Given the description of an element on the screen output the (x, y) to click on. 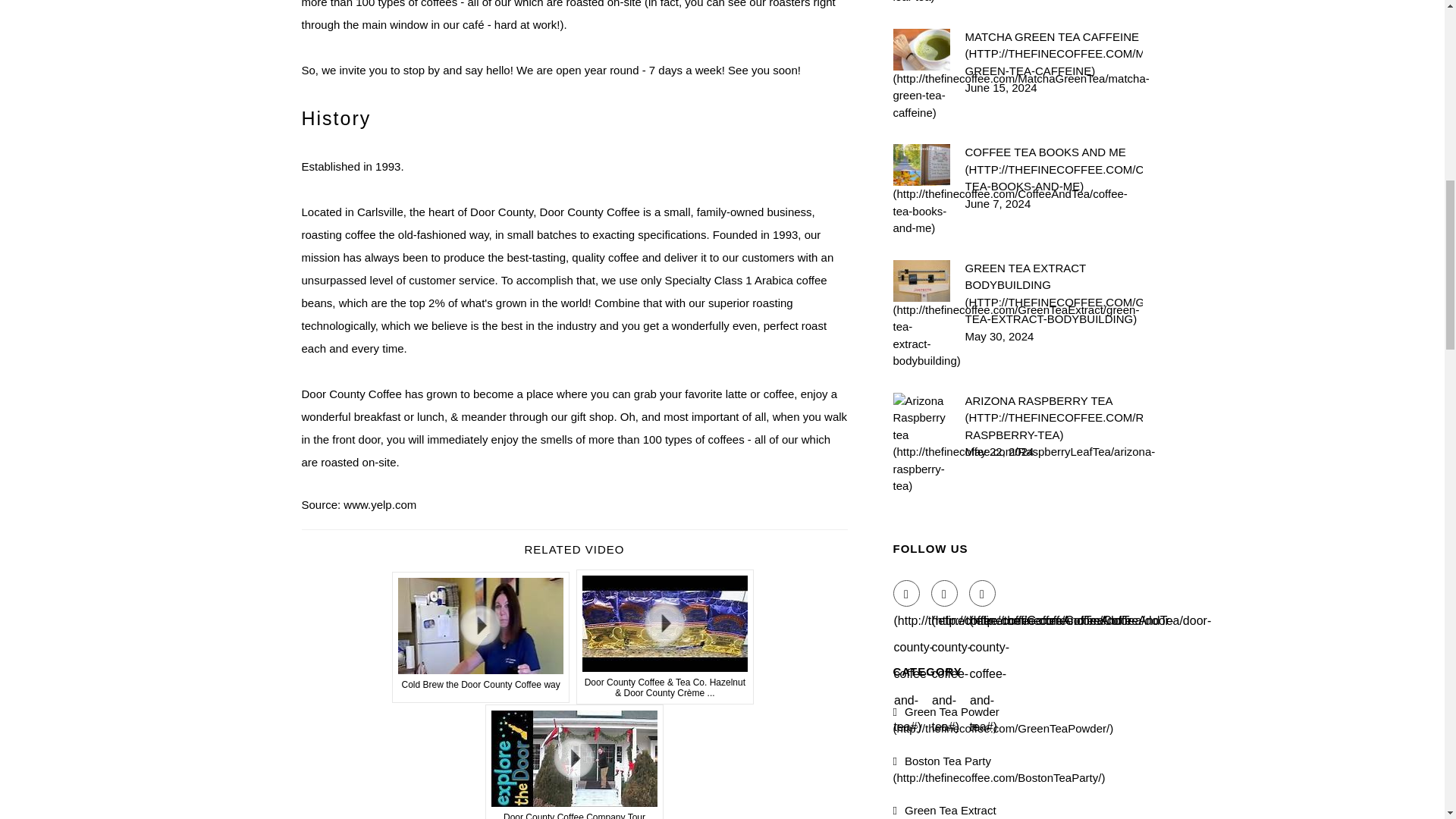
View this video from YouTube (665, 636)
View all posts filed under Green Tea Powder (1003, 720)
Twitter (944, 592)
View all posts filed under Green Tea Extract (1001, 811)
View this video from YouTube (480, 636)
View all posts filed under Boston Tea Party (999, 768)
Google Plus (982, 592)
View this video from Vimeo (573, 761)
Facebook (906, 592)
